Given the description of an element on the screen output the (x, y) to click on. 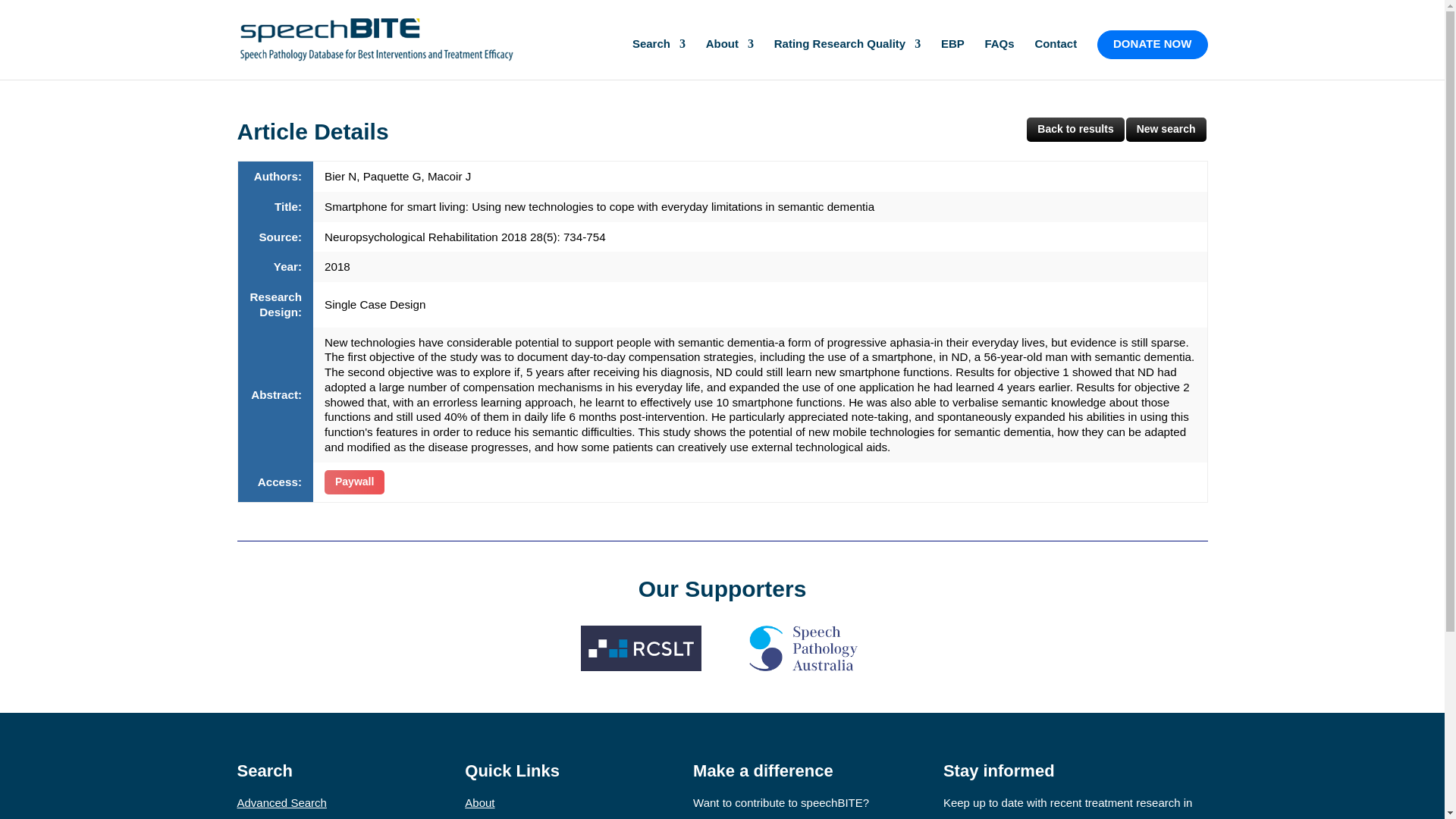
Contact (1055, 58)
Rating Research Quality (847, 58)
Advanced Search (280, 802)
Search (658, 58)
EBP (951, 58)
FAQs (998, 58)
Back to results (1075, 129)
About (730, 58)
Paywall (354, 482)
DONATE NOW (1152, 44)
New search (1166, 129)
